Given the description of an element on the screen output the (x, y) to click on. 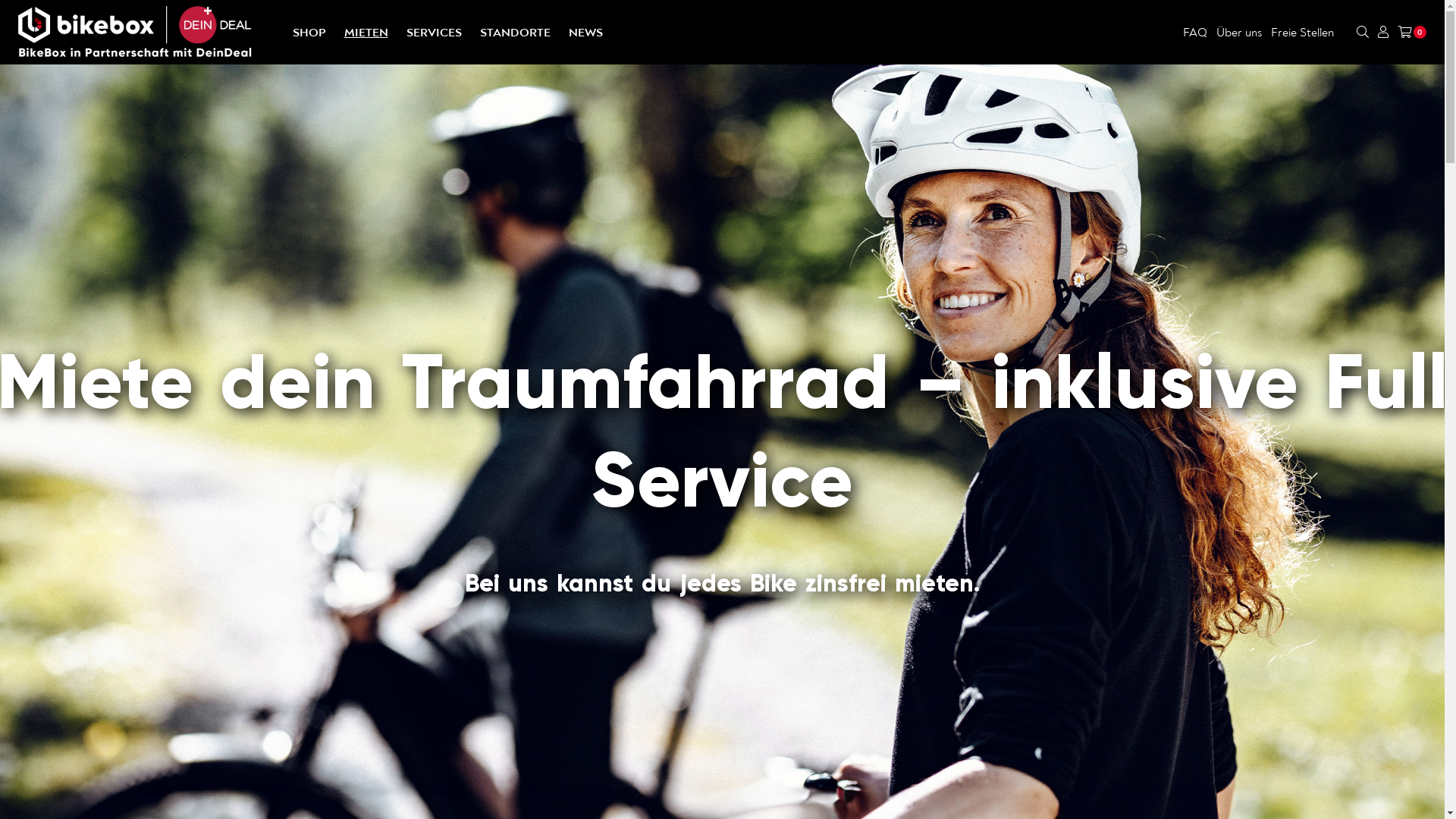
Suche Element type: hover (1362, 31)
SERVICES Element type: text (433, 32)
MIETEN Element type: text (366, 32)
SHOP Element type: text (309, 32)
Mein Konto Element type: hover (1382, 31)
Freie Stellen Element type: text (1301, 31)
FAQ Element type: text (1195, 31)
STANDORTE Element type: text (514, 32)
NEWS Element type: text (585, 32)
0 Element type: text (1411, 32)
